Given the description of an element on the screen output the (x, y) to click on. 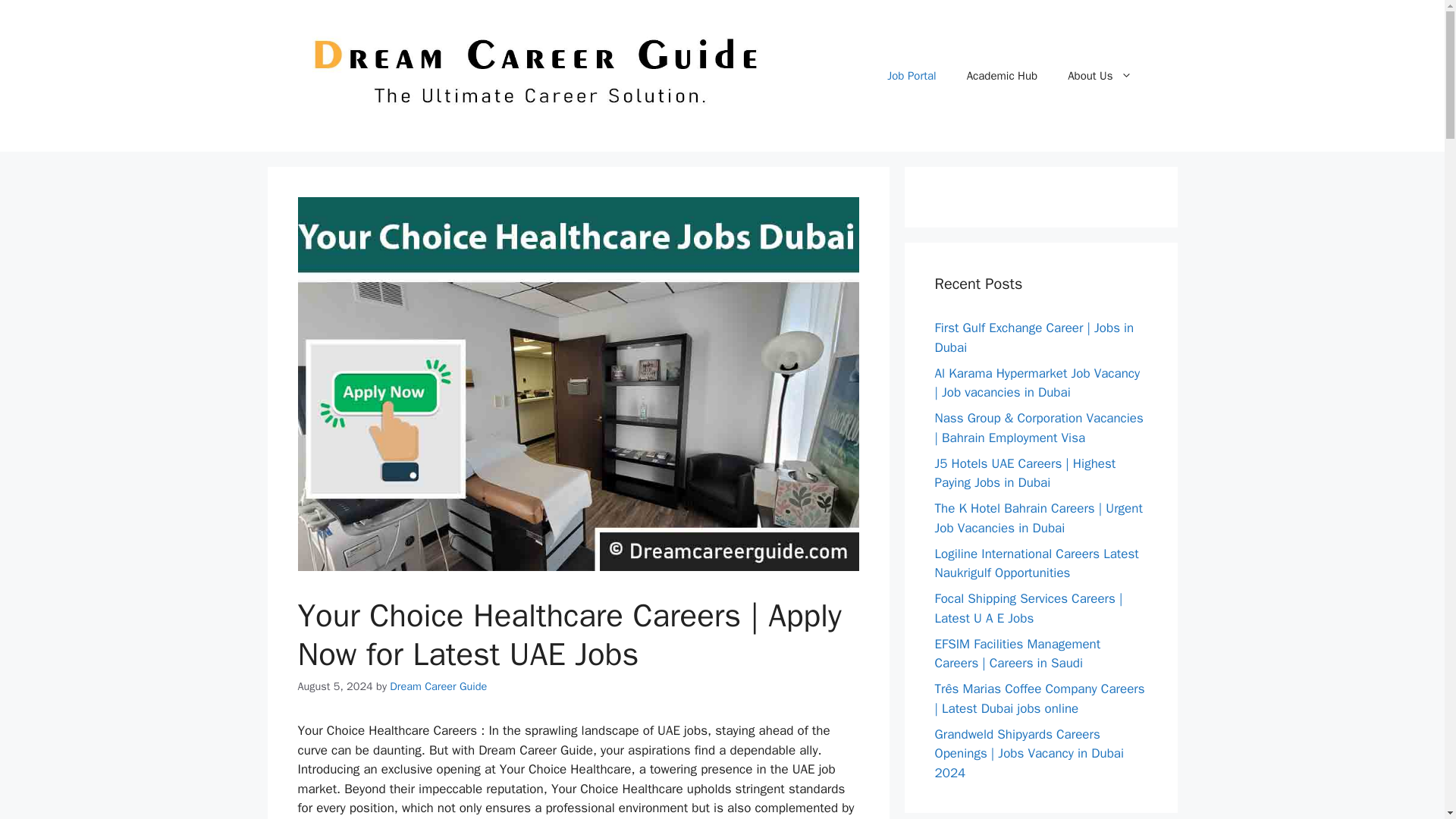
Dream Career Guide (438, 685)
About Us (1099, 75)
Academic Hub (1002, 75)
View all posts by Dream Career Guide (438, 685)
Job Portal (911, 75)
